Given the description of an element on the screen output the (x, y) to click on. 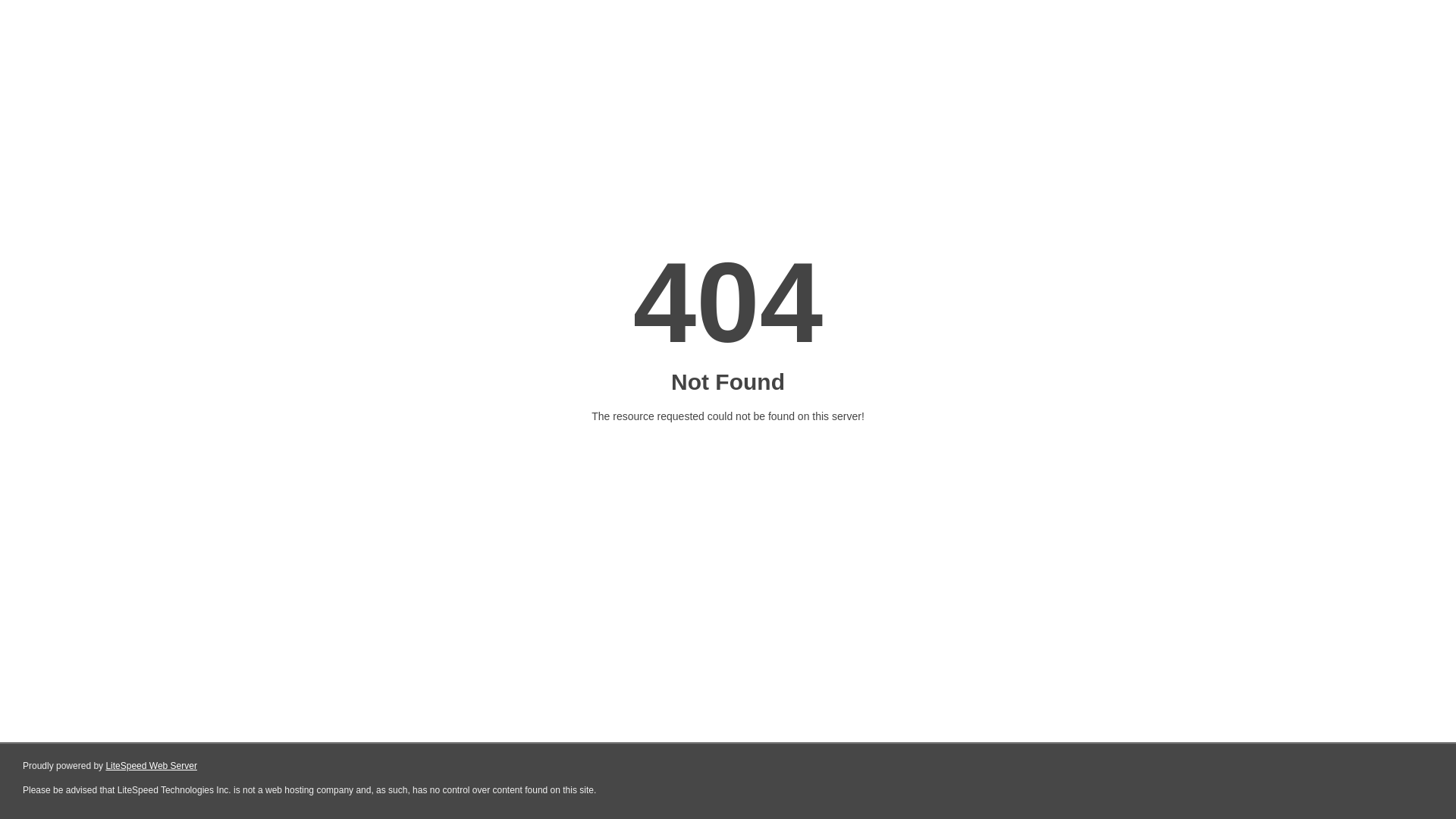
LiteSpeed Web Server Element type: text (151, 765)
